Given the description of an element on the screen output the (x, y) to click on. 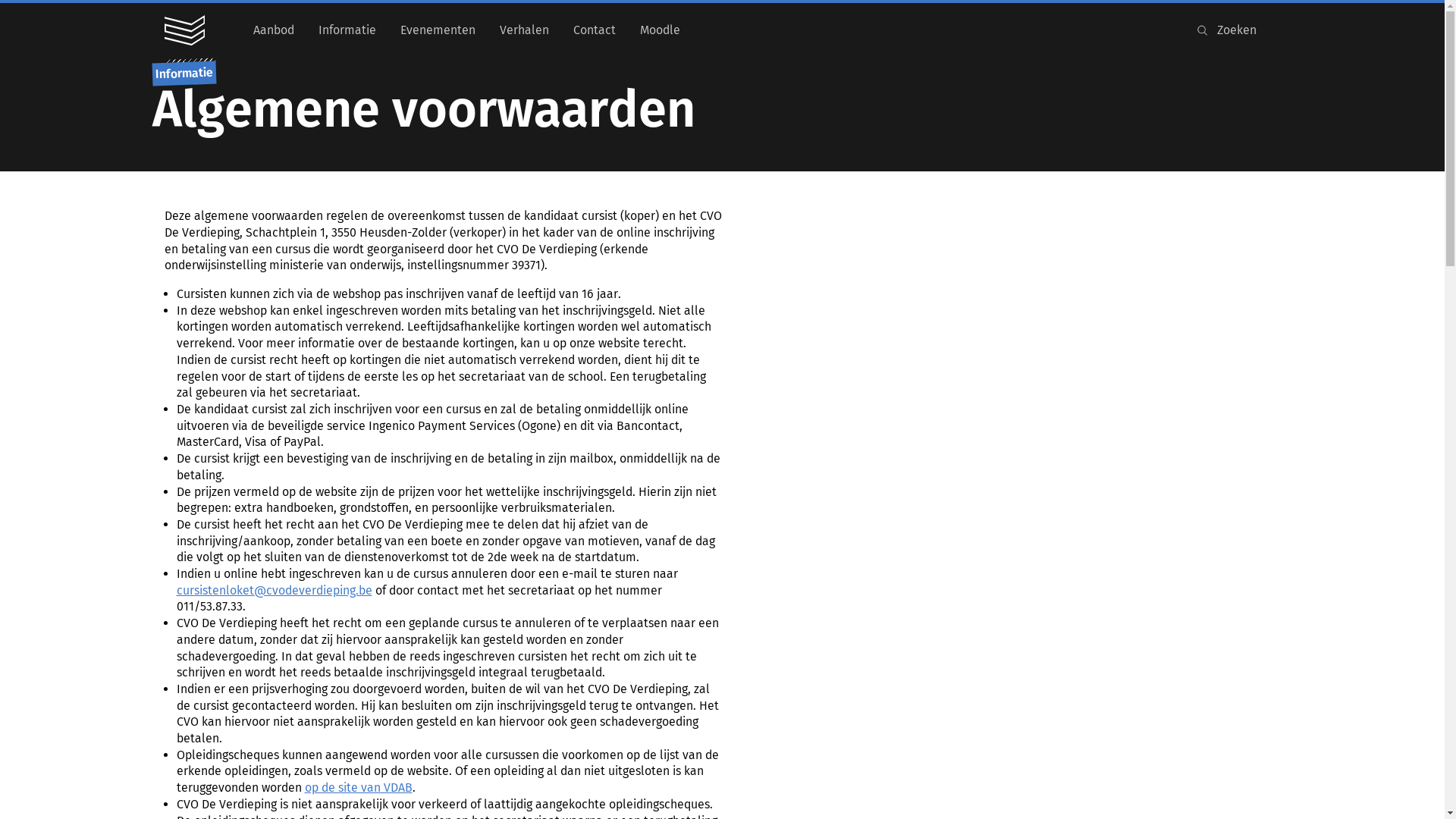
Contact Element type: text (594, 29)
cursistenloket@cvodeverdieping.be Element type: text (273, 590)
Moodle Element type: text (660, 29)
op de site van VDAB Element type: text (358, 787)
